Given the description of an element on the screen output the (x, y) to click on. 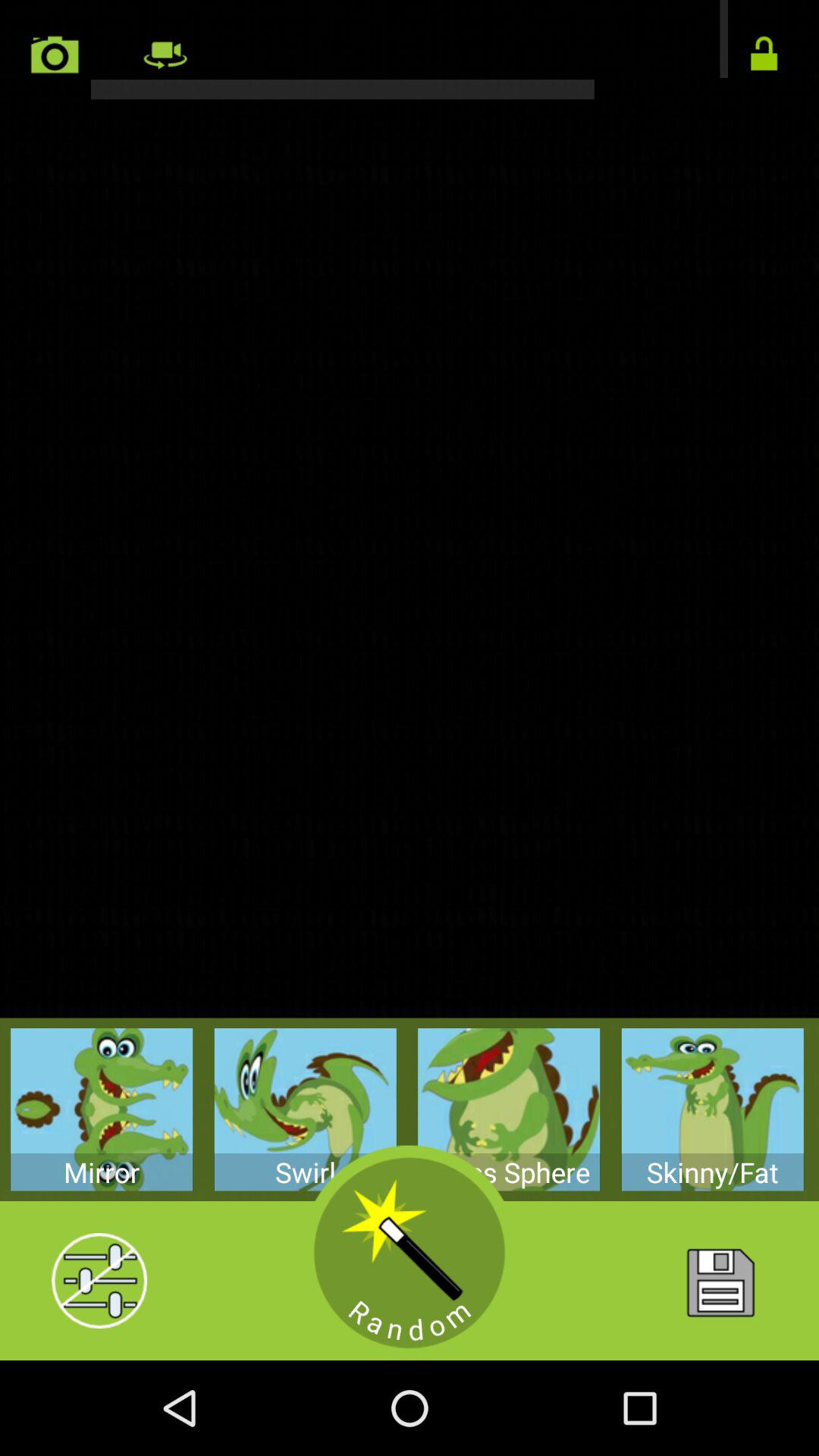
save image (719, 1280)
